Given the description of an element on the screen output the (x, y) to click on. 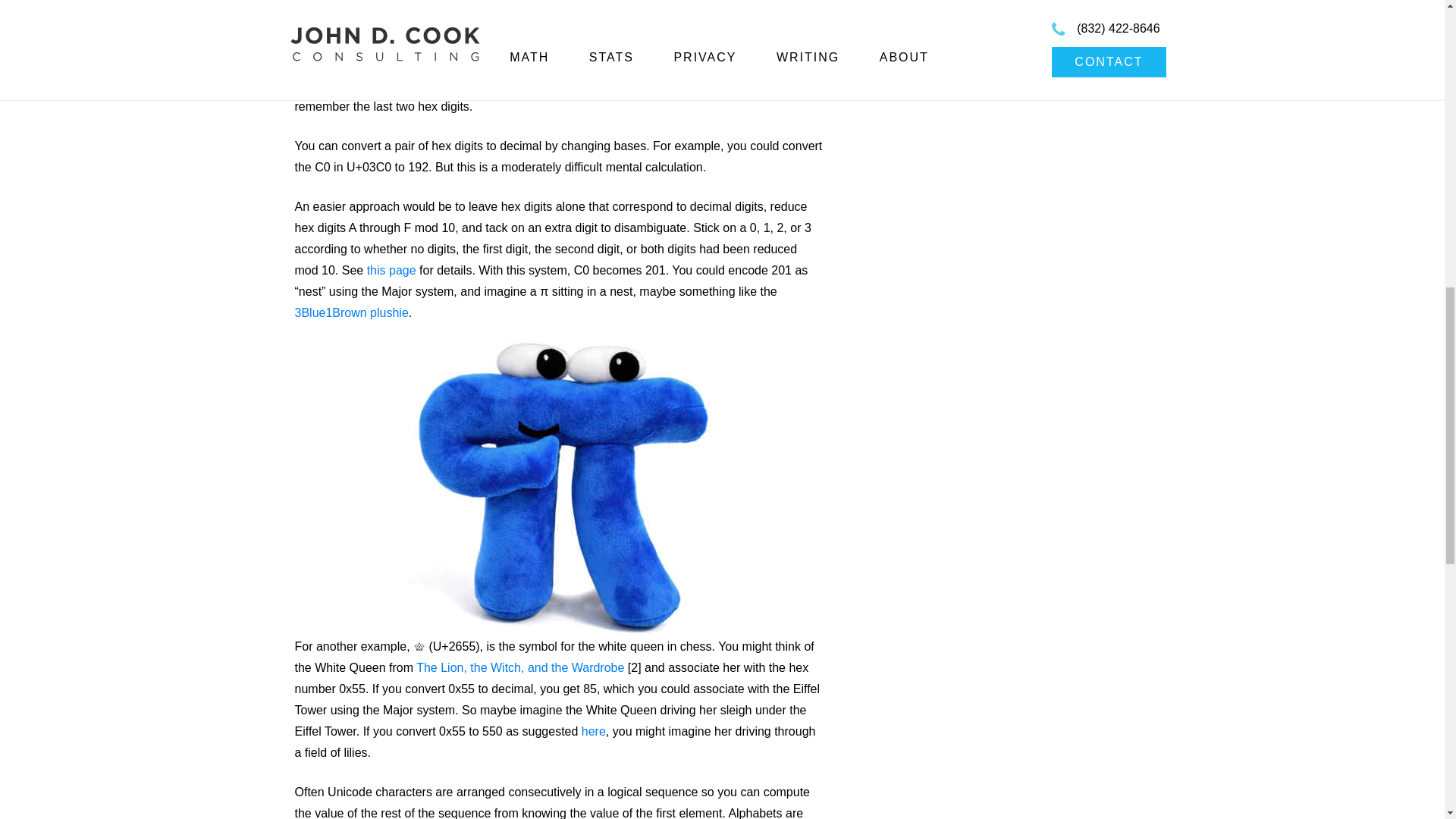
this page (391, 269)
3Blue1Brown plushie (350, 312)
